Given the description of an element on the screen output the (x, y) to click on. 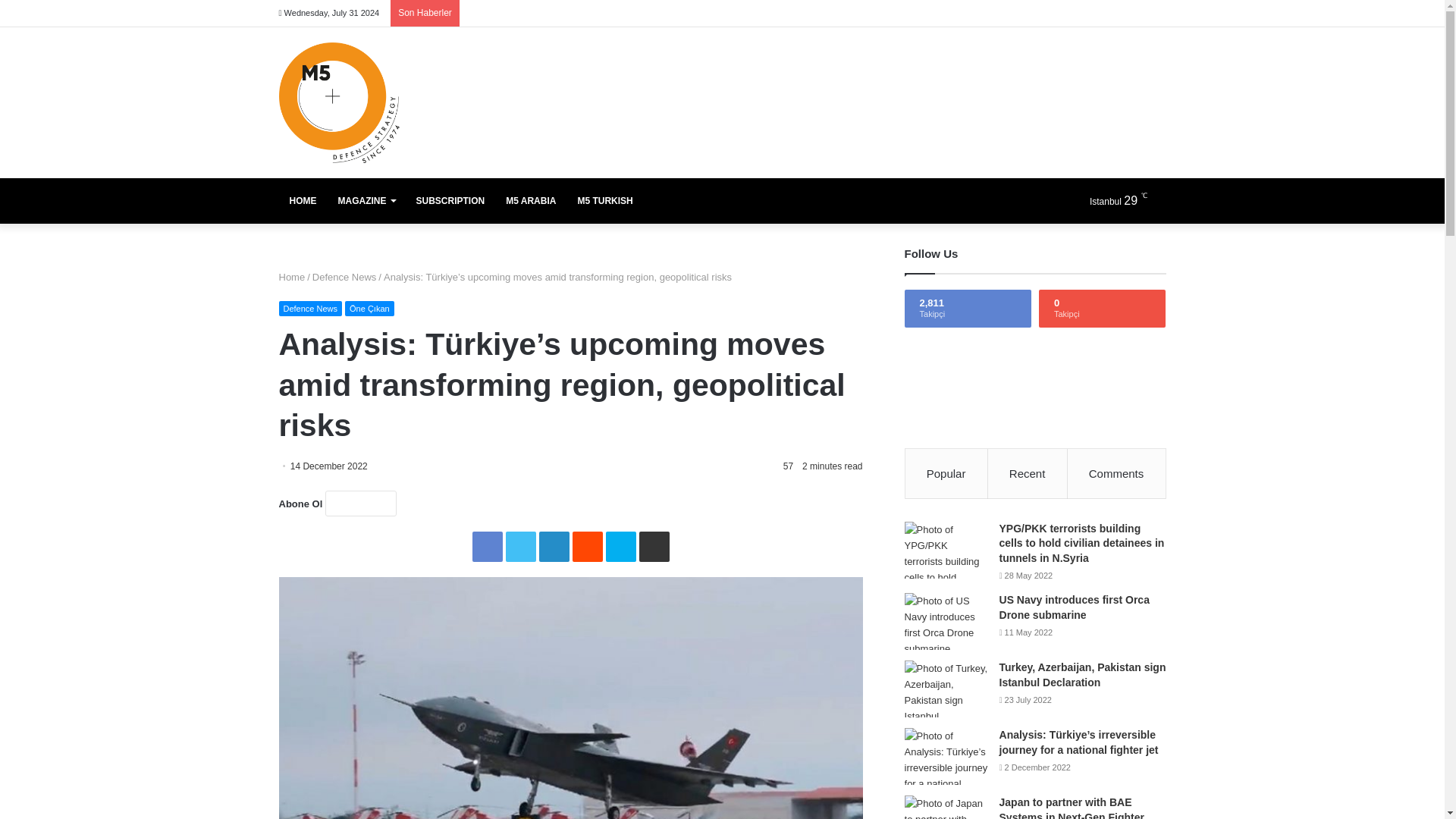
Home (292, 276)
LinkedIn (553, 546)
Abone Ol (360, 503)
Reddit (587, 546)
SUBSCRIPTION (449, 200)
M5 Dergi (338, 102)
Twitter (520, 546)
HOME (303, 200)
Facebook (486, 546)
Share via Email (653, 546)
